Given the description of an element on the screen output the (x, y) to click on. 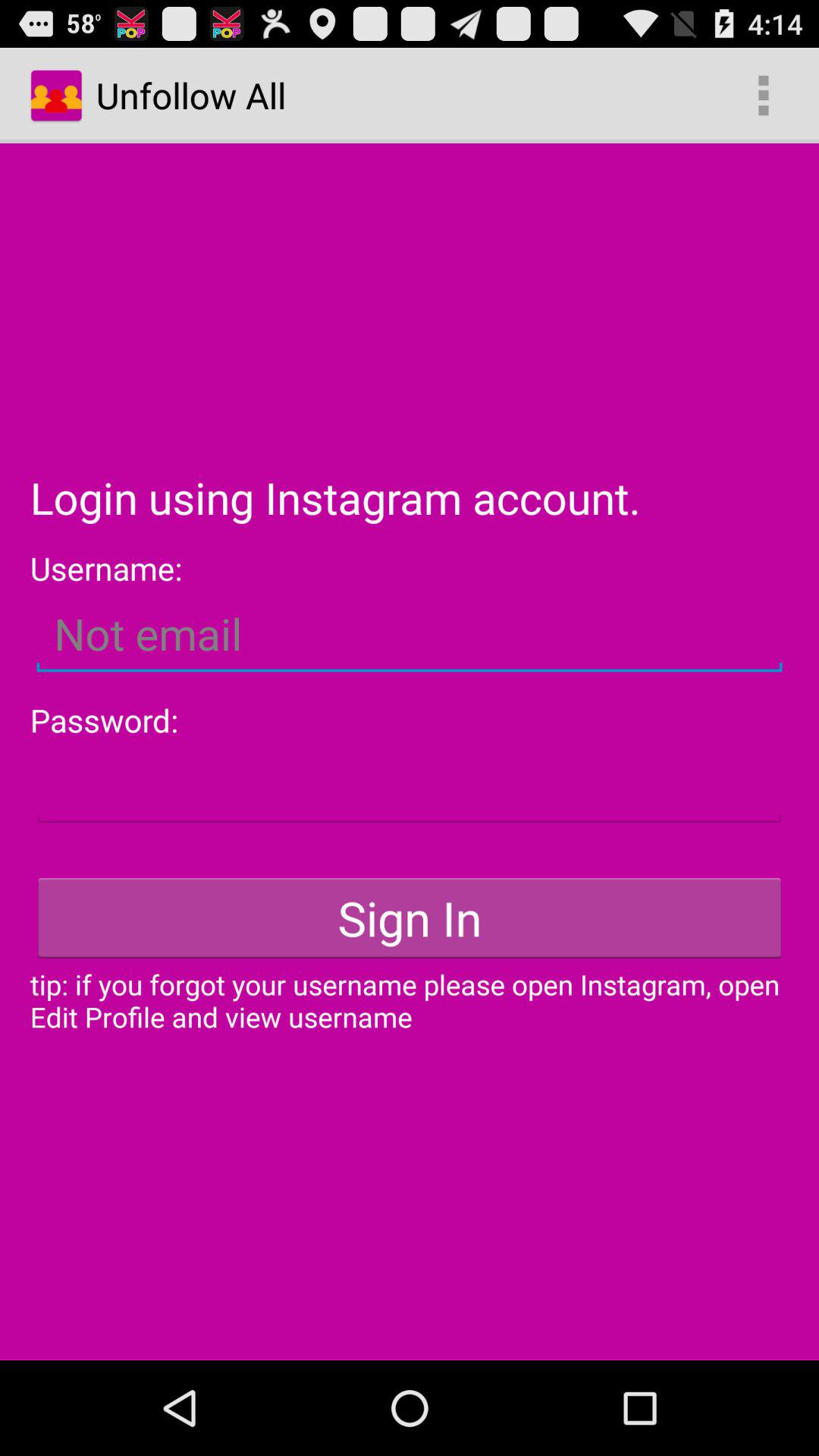
open sign in icon (409, 917)
